Given the description of an element on the screen output the (x, y) to click on. 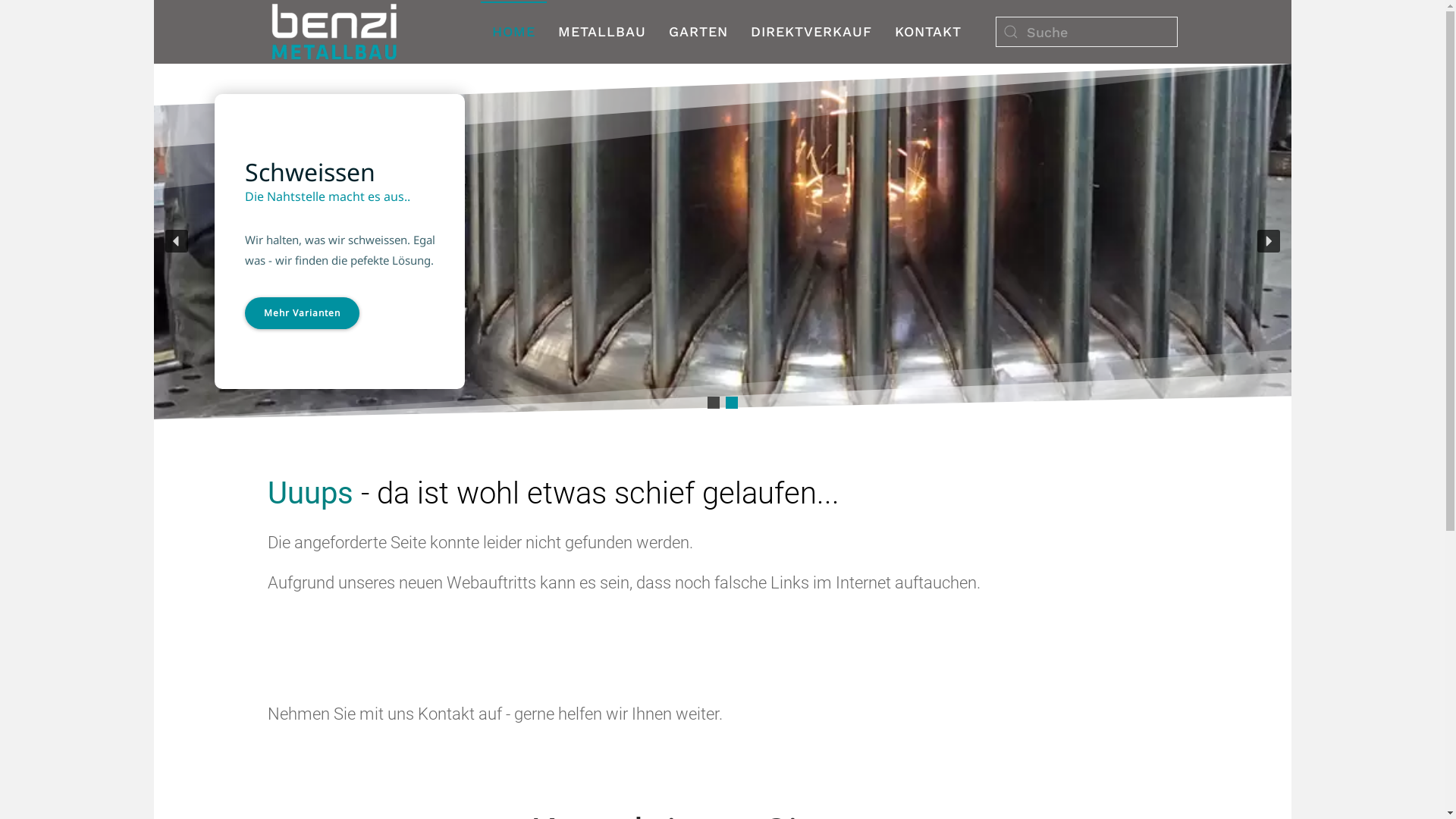
Mehr Varianten Element type: text (301, 313)
HOME Element type: text (513, 31)
METALLBAU Element type: text (601, 31)
KONTAKT Element type: text (927, 31)
DIREKTVERKAUF Element type: text (810, 31)
GARTEN Element type: text (697, 31)
